Given the description of an element on the screen output the (x, y) to click on. 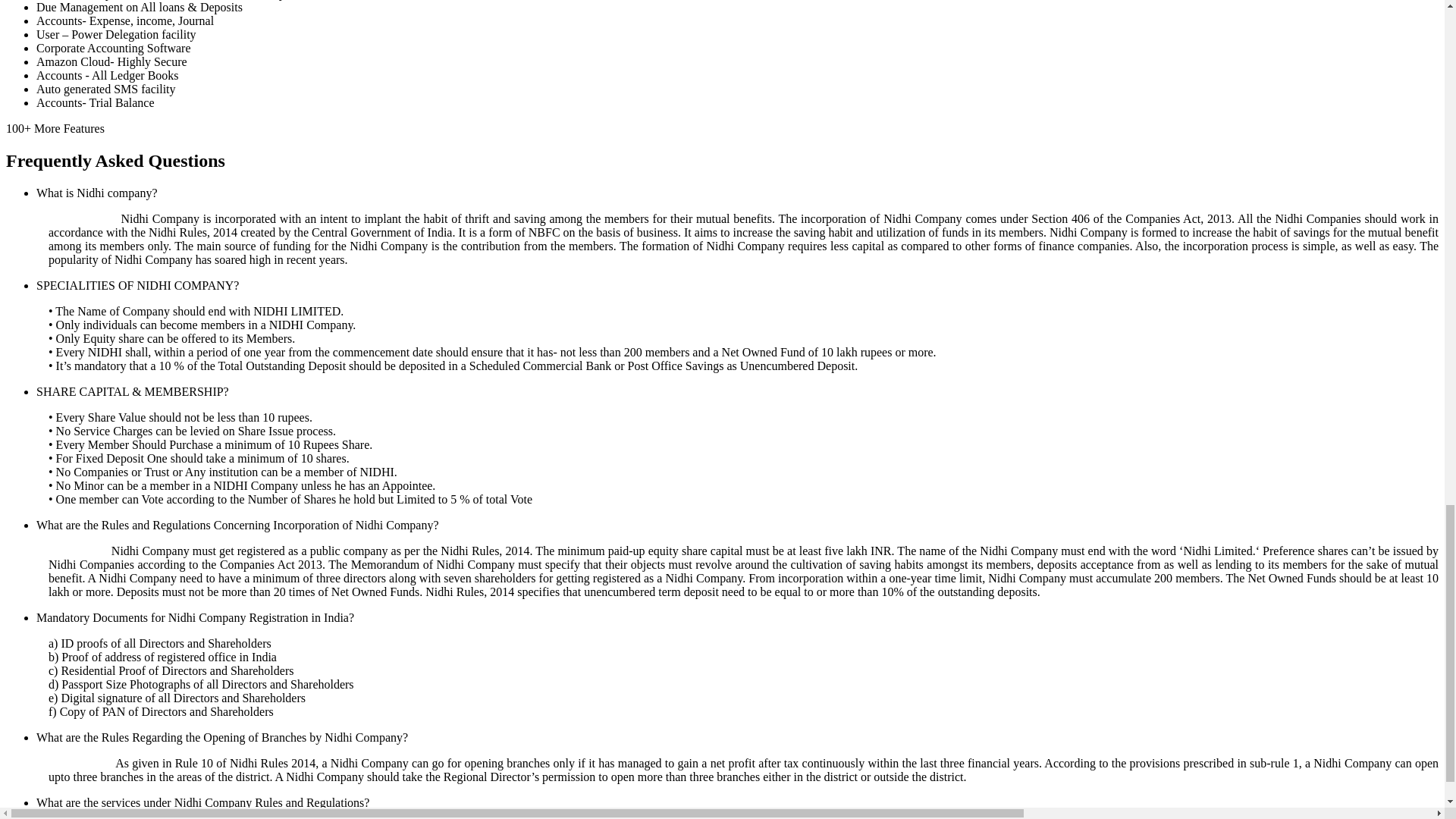
What is Nidhi company? (96, 192)
SPECIALITIES OF NIDHI COMPANY? (137, 285)
Mandatory Documents for Nidhi Company Registration in India? (194, 617)
